Given the description of an element on the screen output the (x, y) to click on. 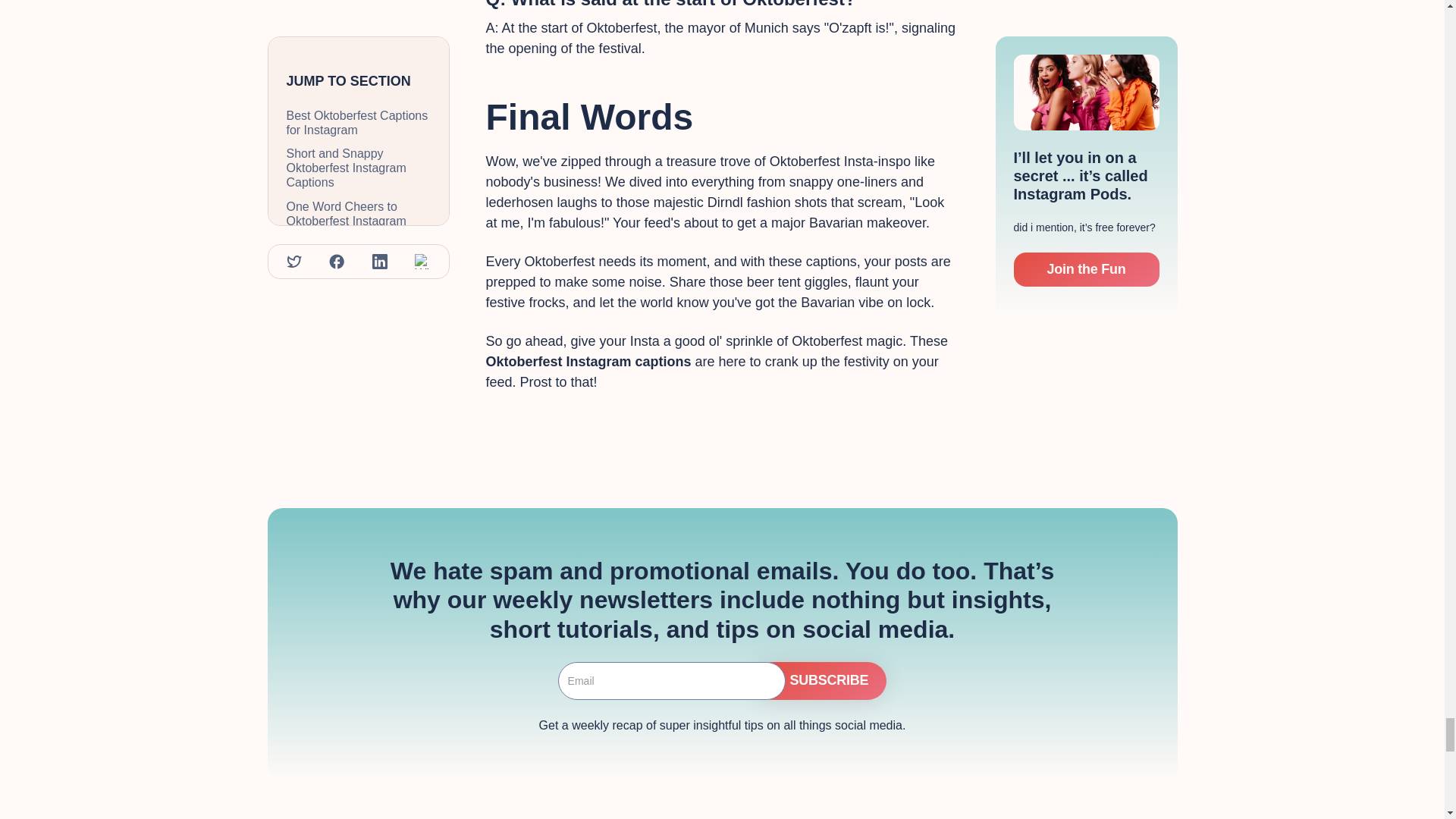
SUBSCRIBE (820, 680)
SUBSCRIBE (820, 680)
